Given the description of an element on the screen output the (x, y) to click on. 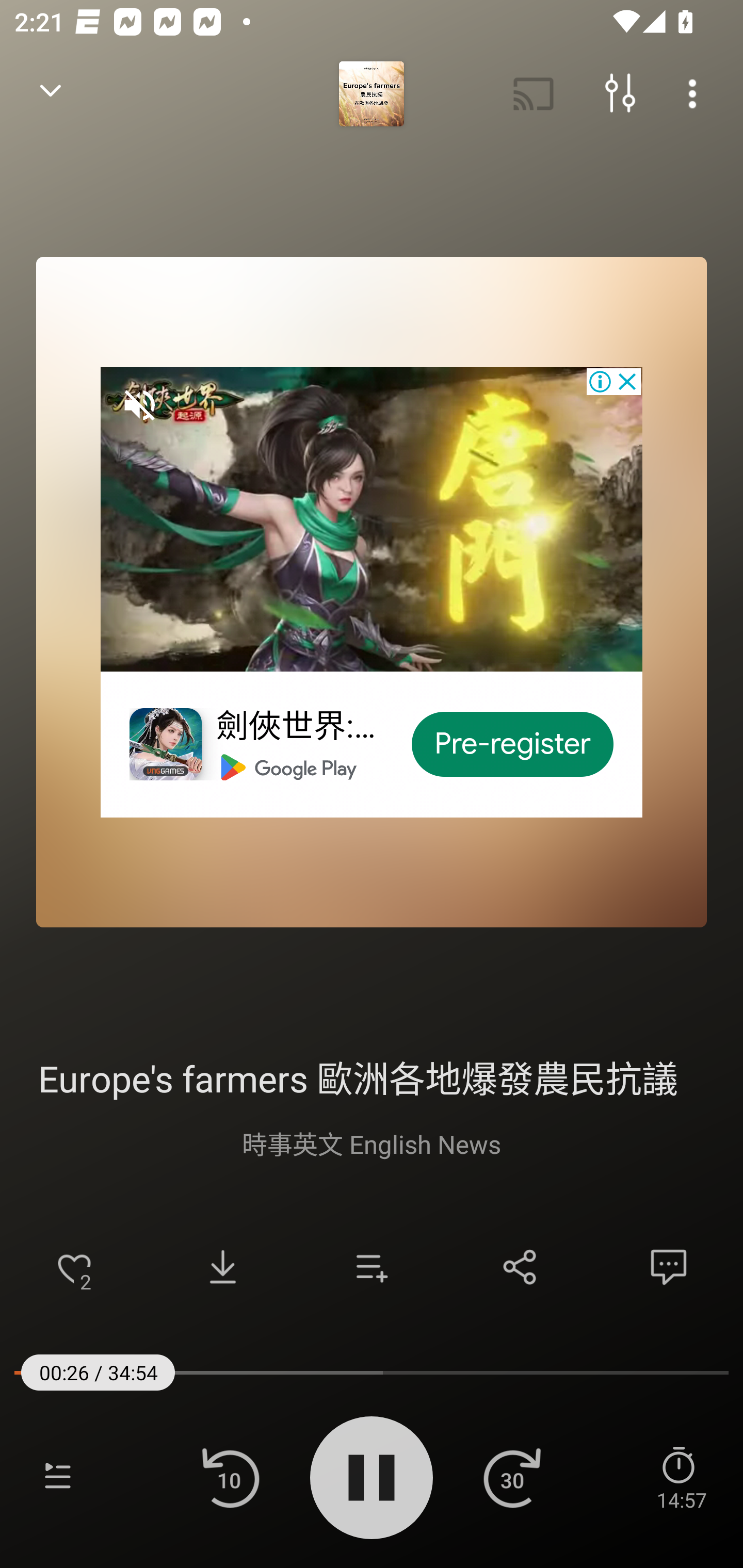
Cast. Disconnected (533, 93)
 Back (50, 94)
劍俠世界:… Pre-register Pre-register (371, 591)
Pre-register (512, 743)
#181 🧑‍🌾 Europe's farmers 歐洲各地爆發農民抗議 (371, 1076)
時事英文 English News (371, 1142)
Comments (668, 1266)
Add to Favorites (73, 1266)
Add to playlist (371, 1266)
Share (519, 1266)
Sleep Timer  14:57 (681, 1477)
 Playlist (57, 1477)
